Given the description of an element on the screen output the (x, y) to click on. 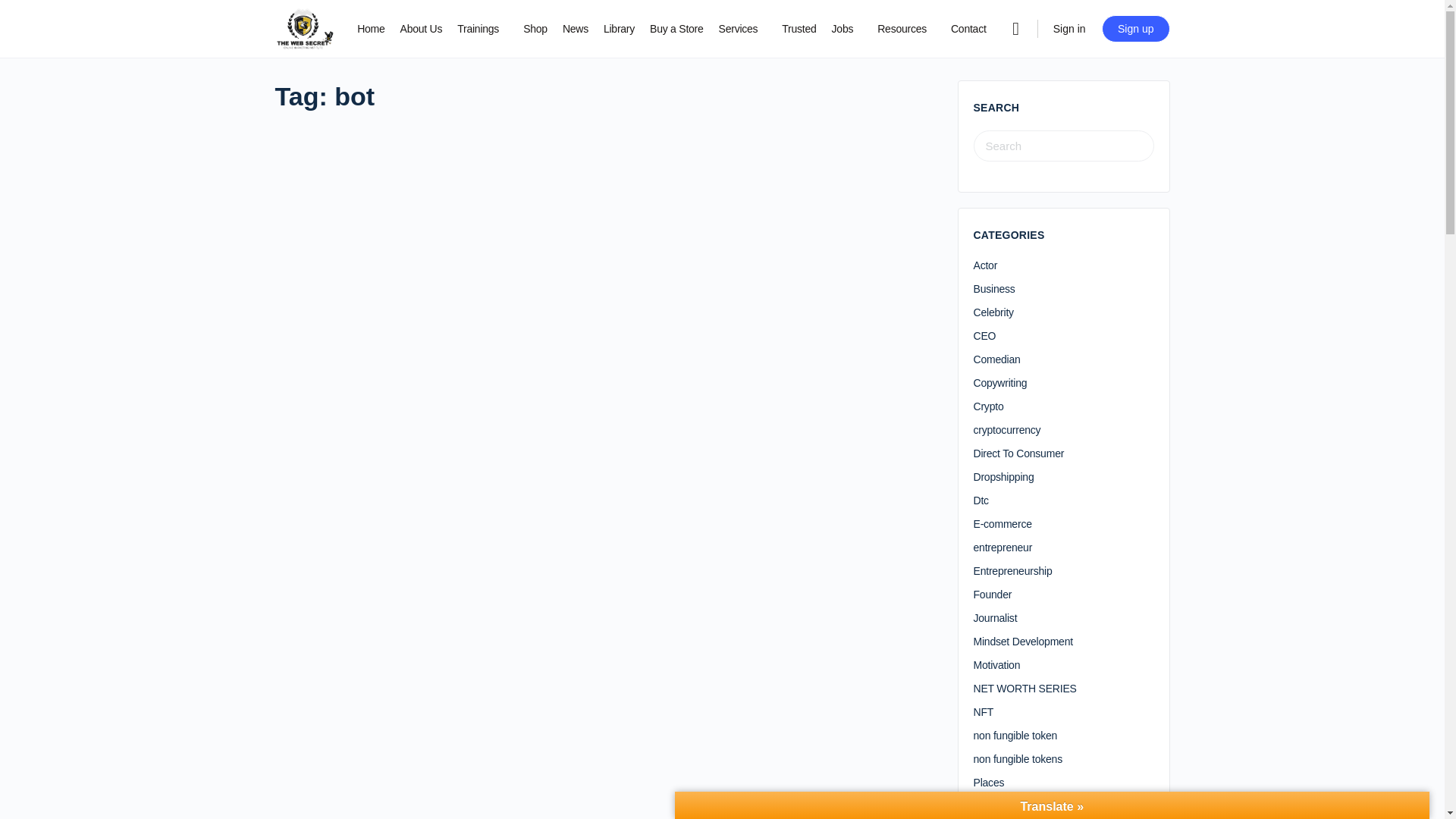
Buy a Store (676, 28)
